Given the description of an element on the screen output the (x, y) to click on. 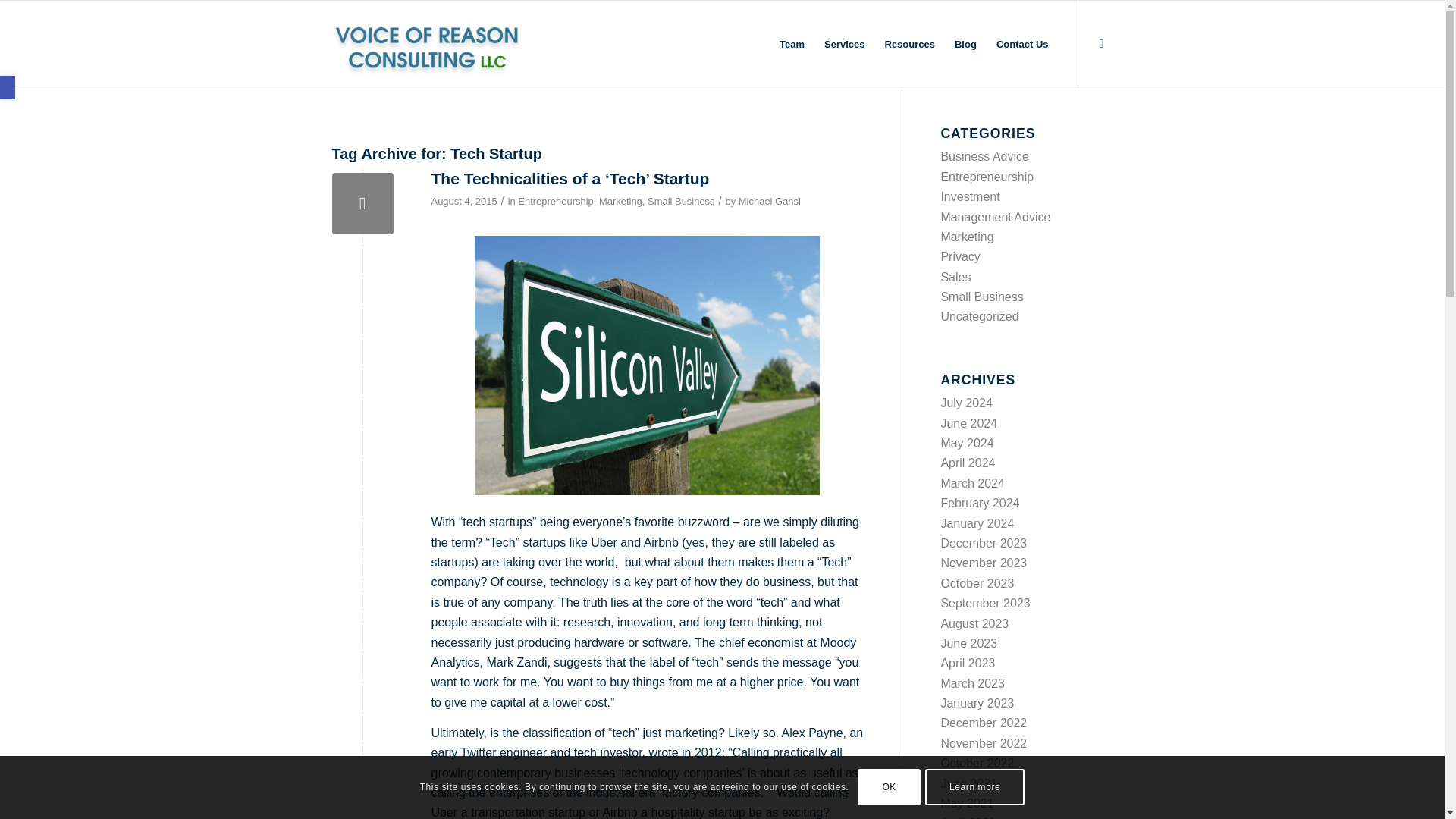
Business Advice (984, 155)
The Technicalities of a 'Tech' Startup (362, 203)
TransparentLogo (427, 44)
Posts by Michael Gansl (769, 201)
Michael Gansl (769, 201)
LinkedIn (1101, 43)
Marketing (620, 201)
Entrepreneurship (986, 176)
Entrepreneurship (555, 201)
Small Business (680, 201)
